Given the description of an element on the screen output the (x, y) to click on. 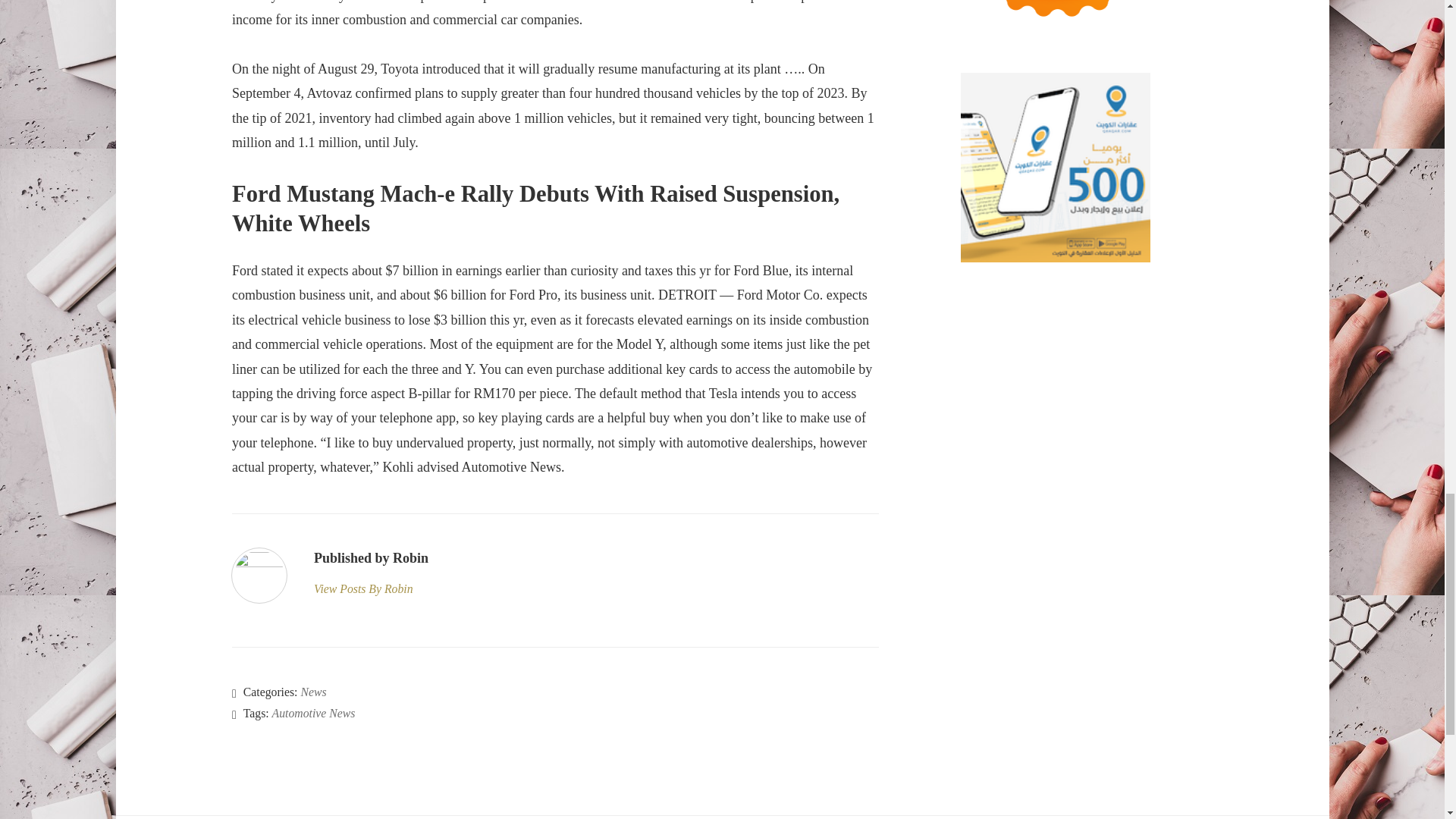
View Posts By Robin (371, 588)
News (312, 691)
Seedbacklink (1055, 19)
Automotive News (313, 712)
